Given the description of an element on the screen output the (x, y) to click on. 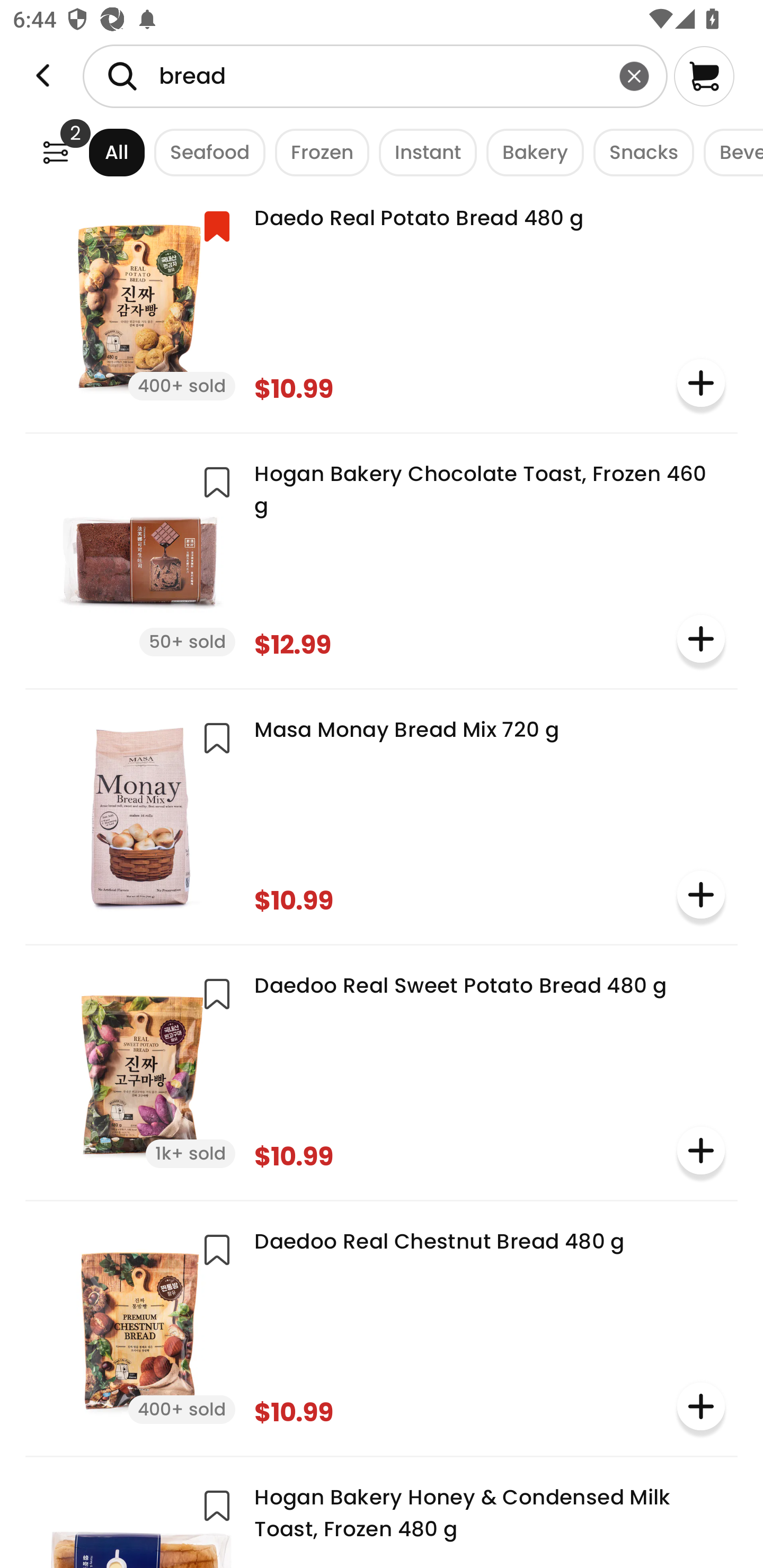
bread (374, 75)
Weee! (42, 76)
Weee! (55, 151)
All (99, 151)
Seafood (204, 151)
Frozen (317, 151)
Instant (422, 151)
Bakery (529, 151)
Snacks (638, 151)
Daedo Real Potato Bread 480 g 400+ sold $10.99 (381, 304)
Masa Monay Bread Mix 720 g $10.99 (381, 815)
Daedoo Real Chestnut Bread 480 g 400+ sold $10.99 (381, 1326)
